Given the description of an element on the screen output the (x, y) to click on. 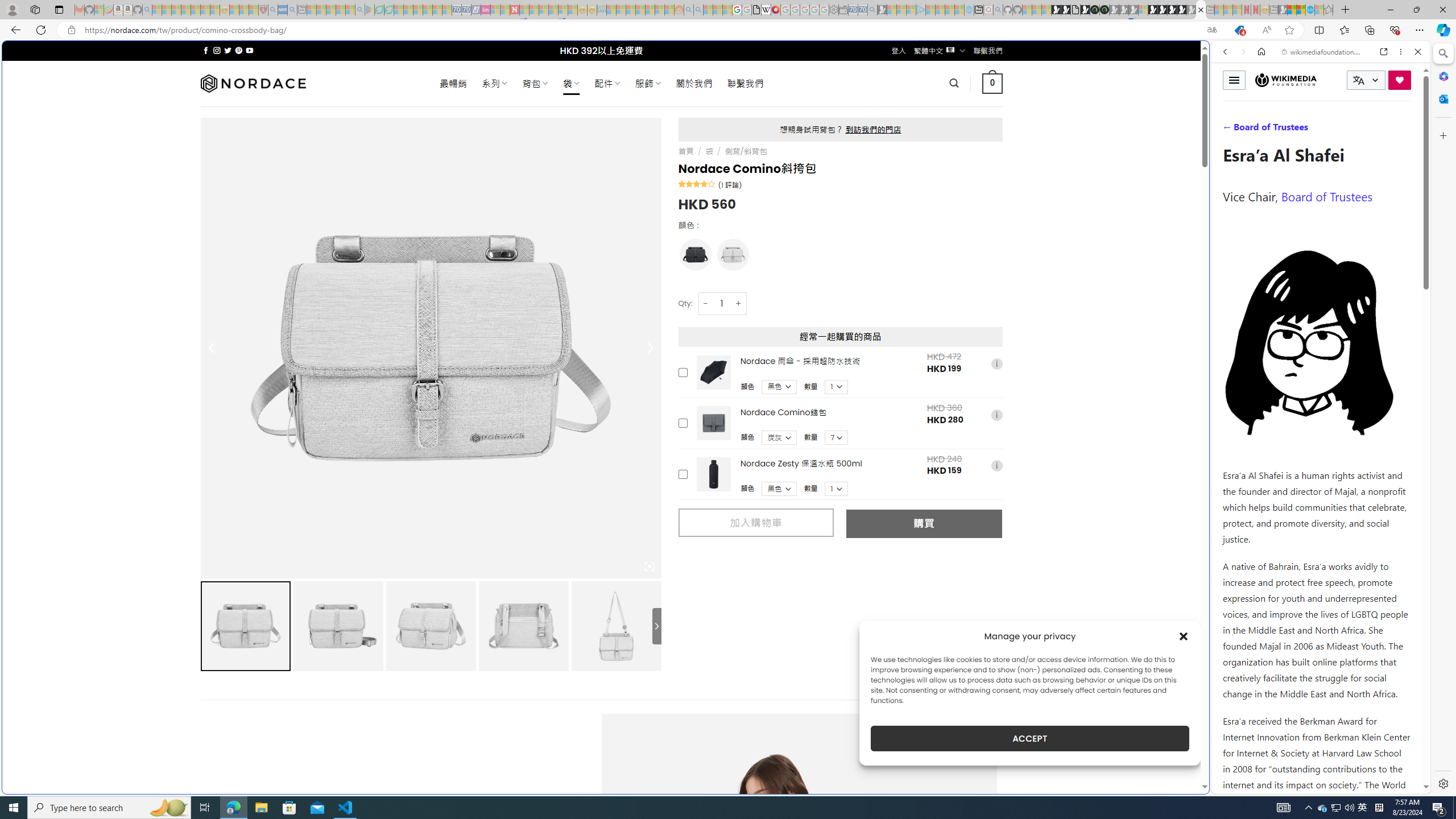
Add this product to cart (682, 474)
